Given the description of an element on the screen output the (x, y) to click on. 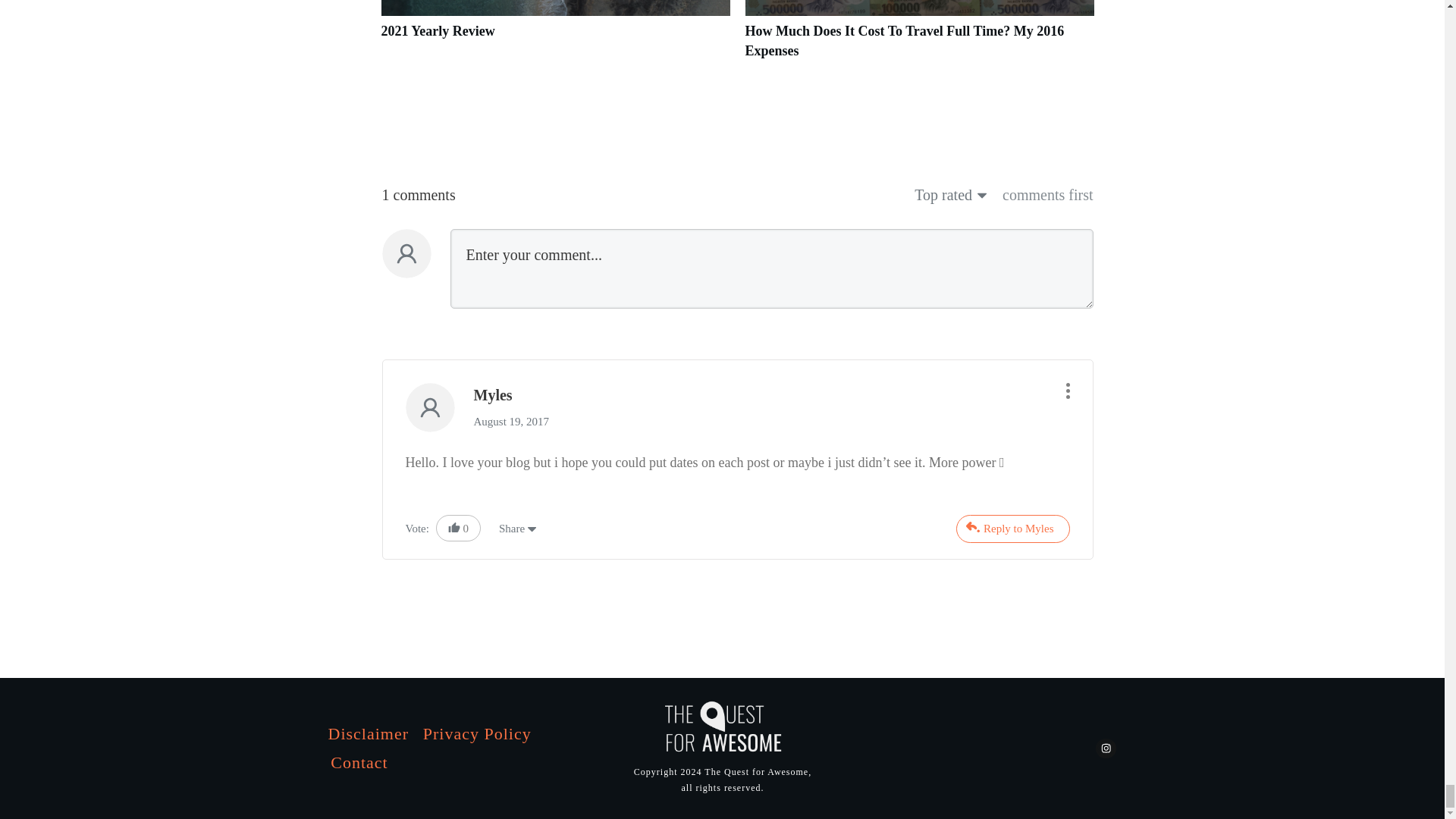
How Much Does It Cost To Travel Full Time? My 2016 Expenses (918, 37)
2021 Yearly Review (437, 30)
How Much Does It Cost To Travel Full Time? My 2016 Expenses (904, 40)
Comment Author Image (429, 407)
Disclaimer (368, 732)
How Much Does It Cost To Travel Full Time? My 2016 Expenses (904, 40)
Contact (358, 762)
Reply to Myles (1013, 528)
Privacy Policy (477, 732)
0 (457, 528)
2021 Yearly Review (437, 30)
2021 Yearly Review (554, 37)
